Given the description of an element on the screen output the (x, y) to click on. 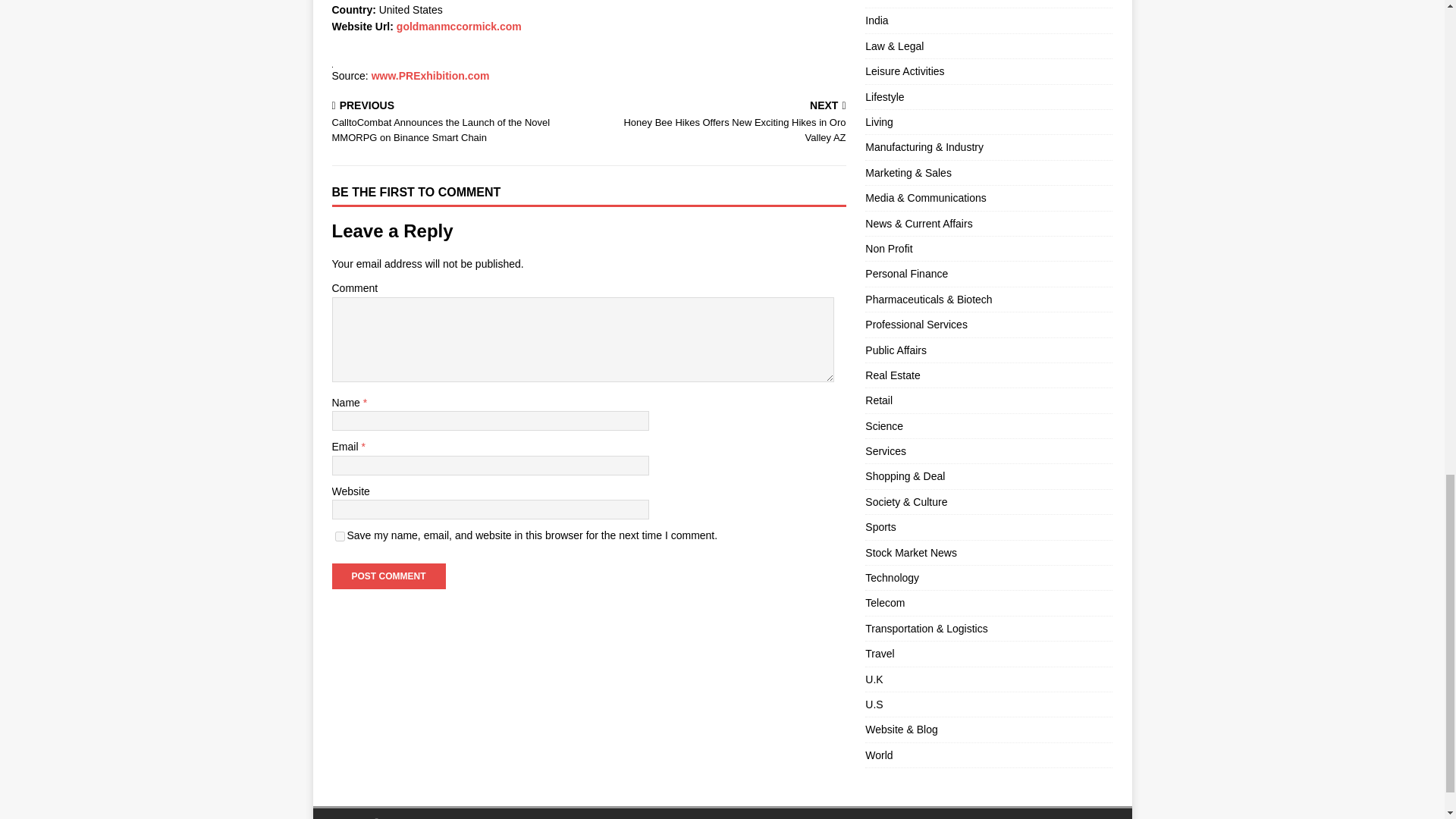
yes (339, 536)
Post Comment (388, 575)
www.PRExhibition.com (430, 75)
goldmanmccormick.com (458, 26)
Post Comment (388, 575)
